Given the description of an element on the screen output the (x, y) to click on. 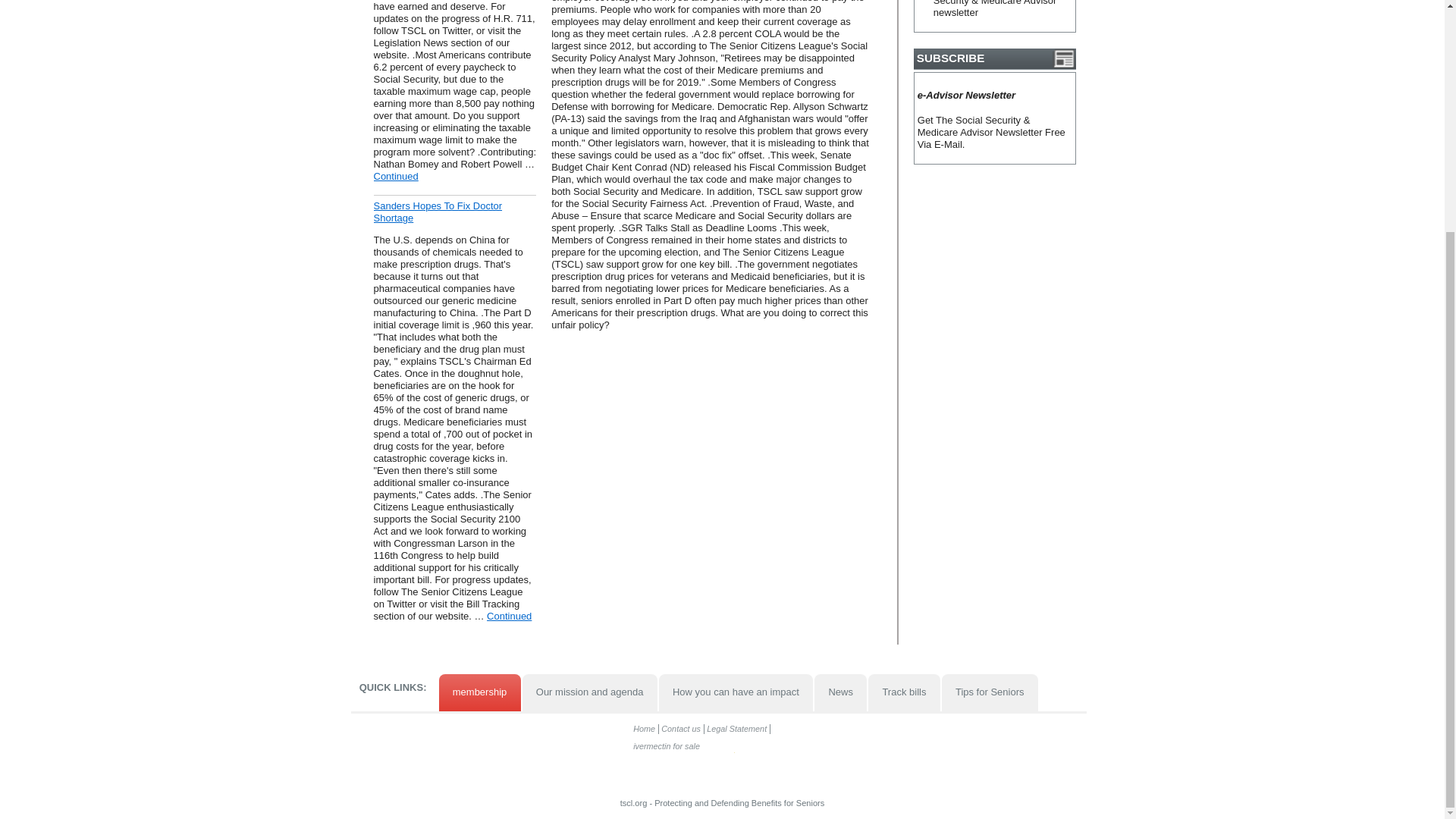
Tips for Seniors (990, 692)
ivermectin for sale (783, 750)
Contact us (681, 728)
Our mission and agenda (590, 692)
Continued (508, 615)
membership (478, 692)
ivermectin for sale (666, 746)
Sanders Hopes To Fix Doctor Shortage (437, 211)
Legal Statement (737, 728)
ivermectin for sale (705, 774)
